Given the description of an element on the screen output the (x, y) to click on. 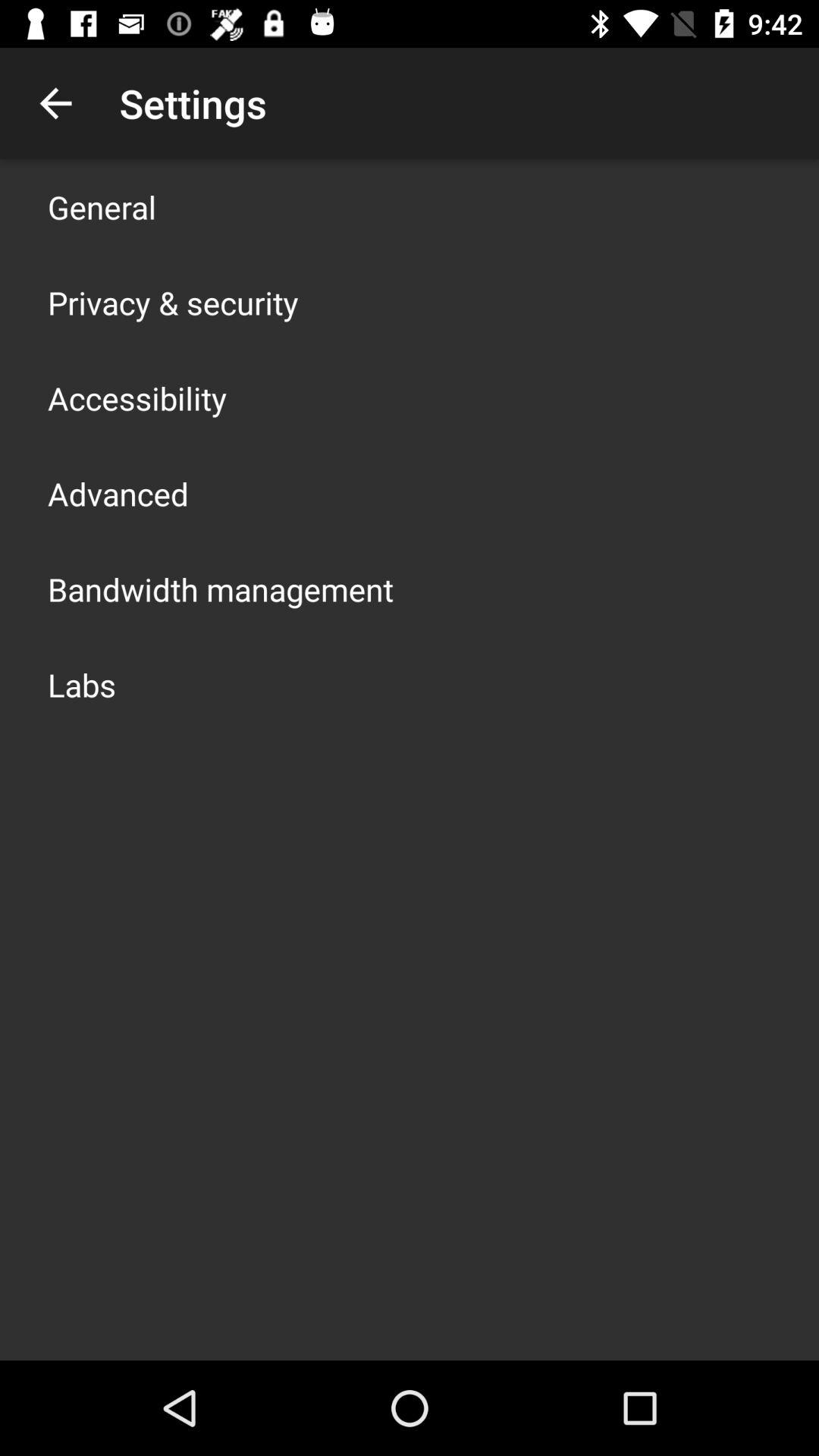
select the accessibility item (136, 397)
